Given the description of an element on the screen output the (x, y) to click on. 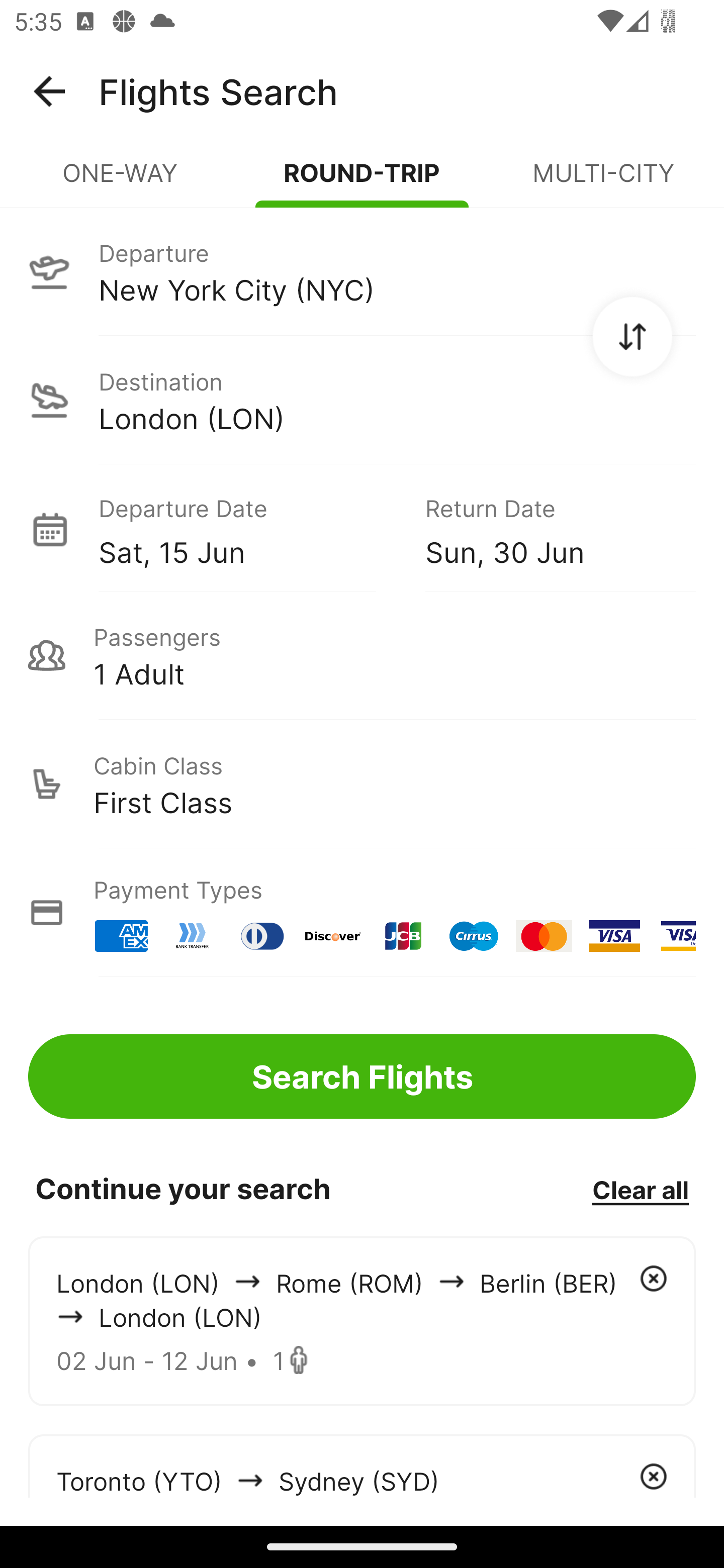
ONE-WAY (120, 180)
ROUND-TRIP (361, 180)
MULTI-CITY (603, 180)
Departure New York City (NYC) (362, 270)
Destination London (LON) (362, 400)
Departure Date Sat, 15 Jun (247, 528)
Return Date Sun, 30 Jun (546, 528)
Passengers 1 Adult (362, 655)
Cabin Class First Class (362, 783)
Payment Types (362, 912)
Search Flights (361, 1075)
Clear all (640, 1189)
Toronto (YTO)  arrowIcon  Sydney (SYD) (361, 1465)
